Given the description of an element on the screen output the (x, y) to click on. 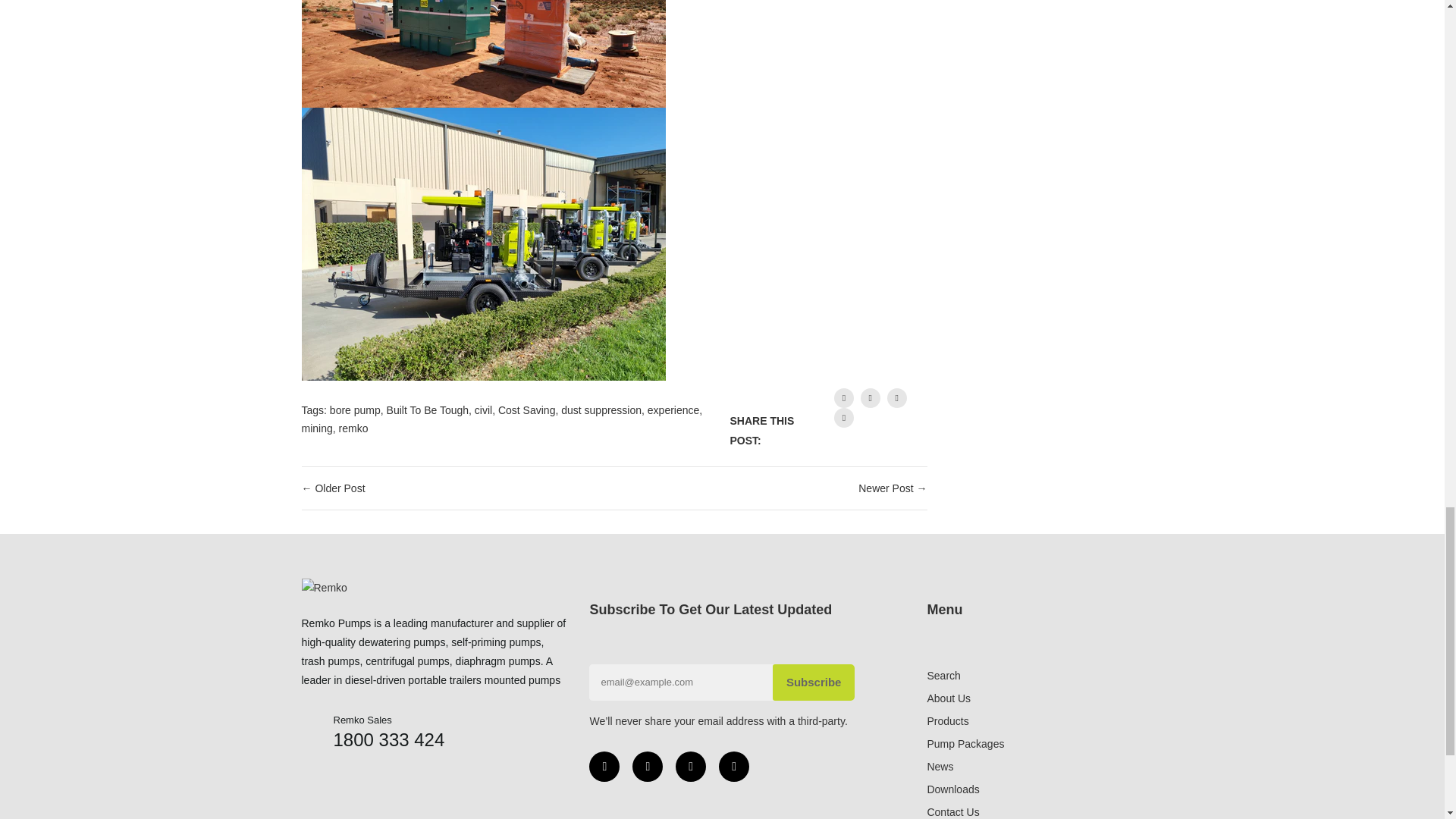
Facebook (604, 766)
Follow us on Facebook (843, 397)
Subscribe (814, 682)
Follow us on Twitter (870, 397)
Follow us on Pinterest (843, 417)
Linkedin (690, 766)
Twitter (646, 766)
Instagram (734, 766)
